Given the description of an element on the screen output the (x, y) to click on. 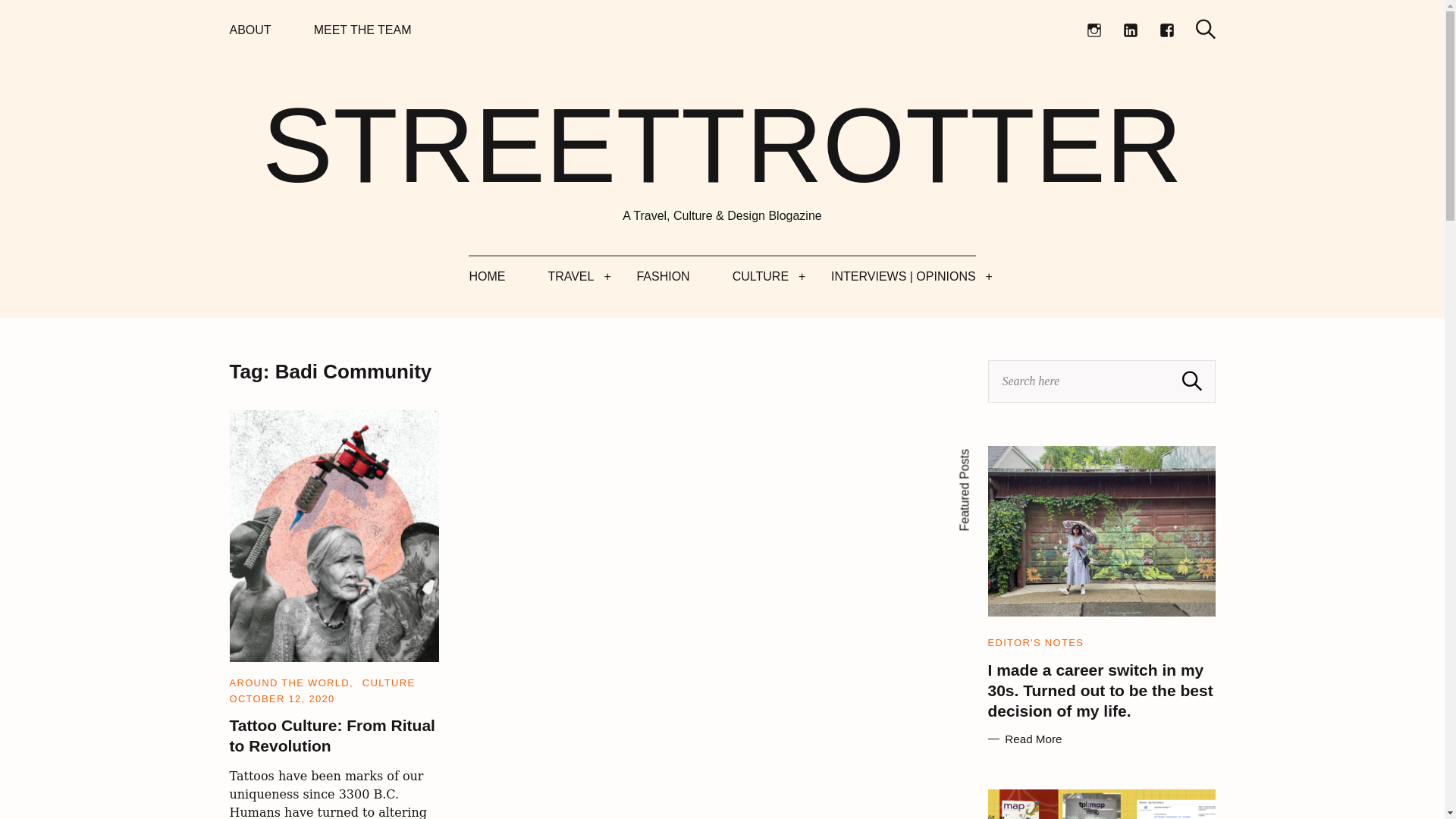
CULTURE (760, 276)
Facebook (1165, 29)
Instagram (1093, 29)
STREETTROTTER (722, 145)
AROUND THE WORLD (288, 682)
TRAVEL (570, 276)
Linkedin (1129, 29)
Search (1204, 28)
FASHION (662, 276)
EDITOR'S NOTES (1035, 642)
HOME (486, 276)
Search (1192, 381)
Read More (1100, 739)
ABOUT (249, 29)
MEET THE TEAM (363, 29)
